Given the description of an element on the screen output the (x, y) to click on. 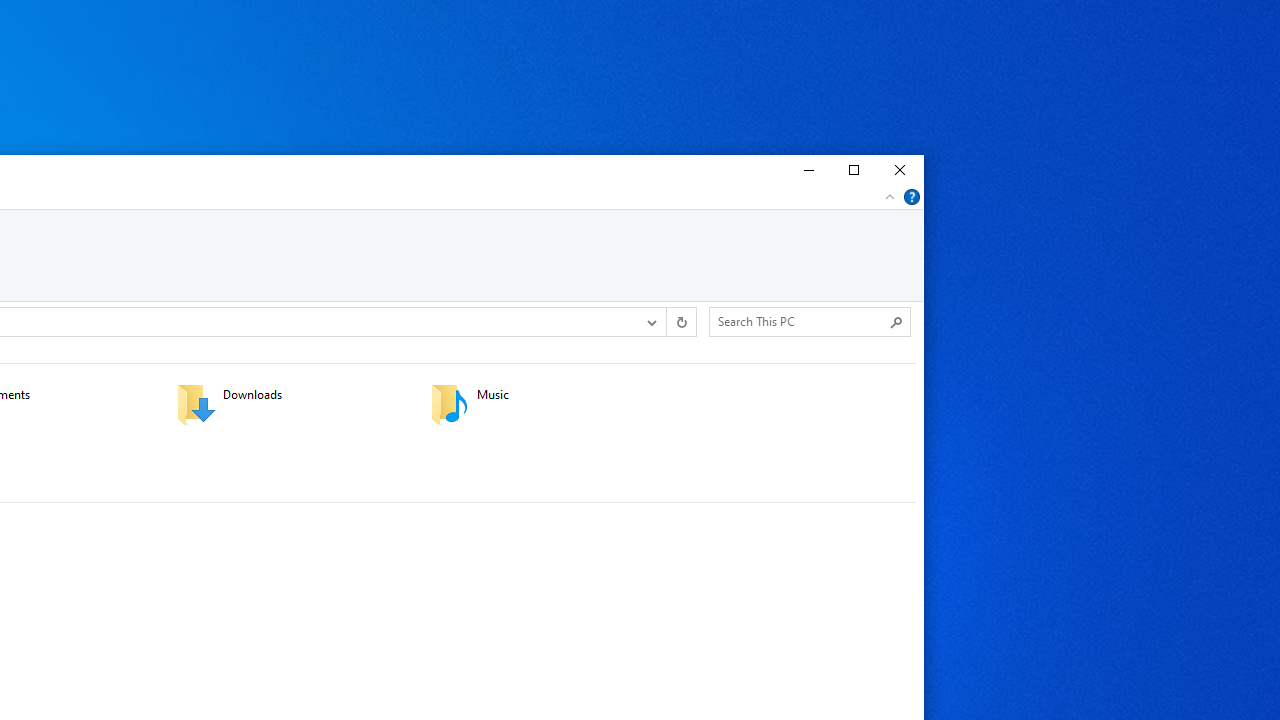
Search (896, 321)
Close (900, 170)
Help (911, 196)
Maximize (853, 170)
Address band toolbar (666, 321)
Minimize (806, 170)
Name (569, 395)
Refresh "This PC" (F5) (680, 321)
Previous Locations (650, 321)
Search Box (799, 321)
Minimize the Ribbon (890, 196)
Downloads (291, 403)
Music (544, 403)
